Given the description of an element on the screen output the (x, y) to click on. 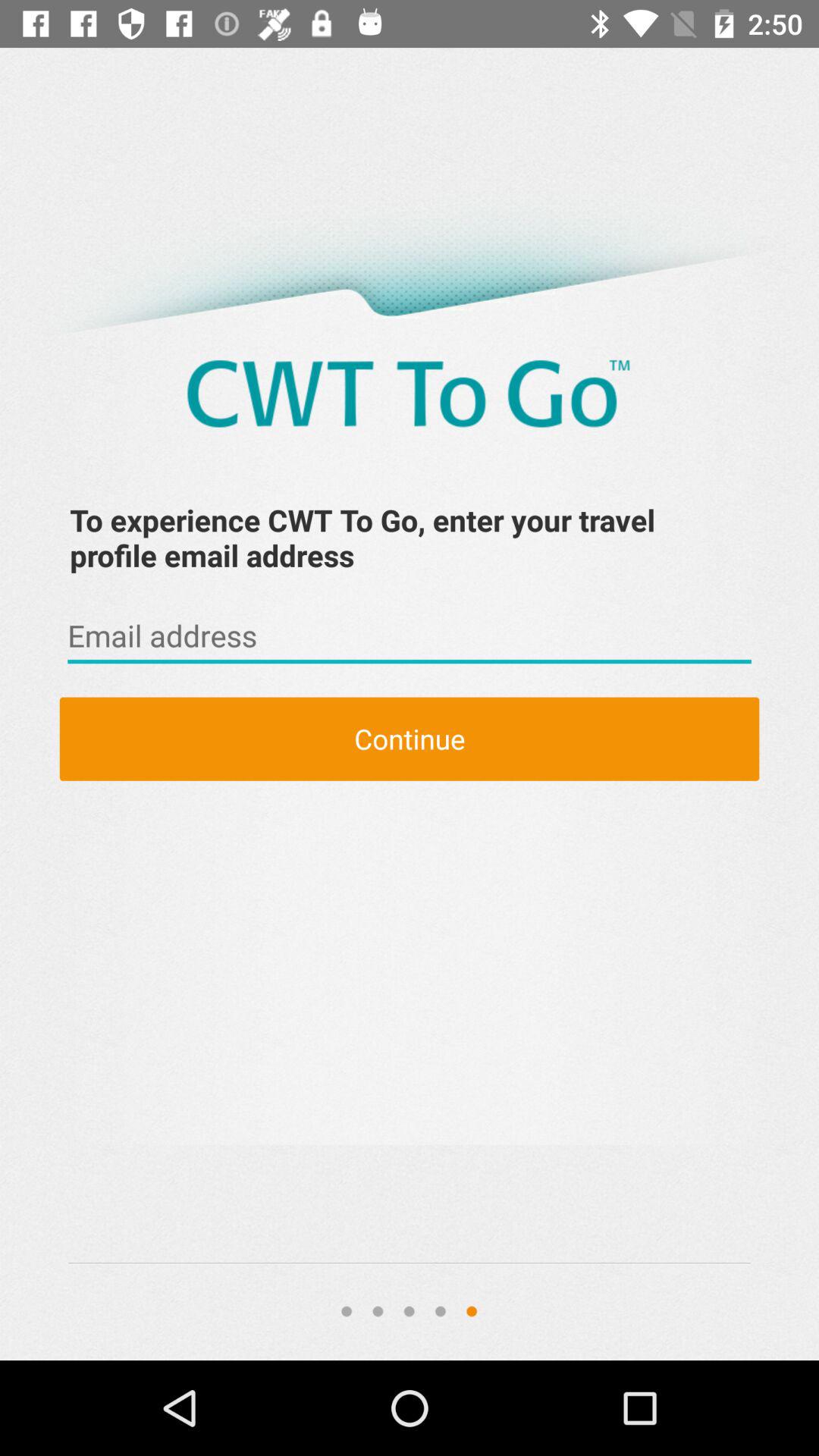
turn on continue item (409, 738)
